Given the description of an element on the screen output the (x, y) to click on. 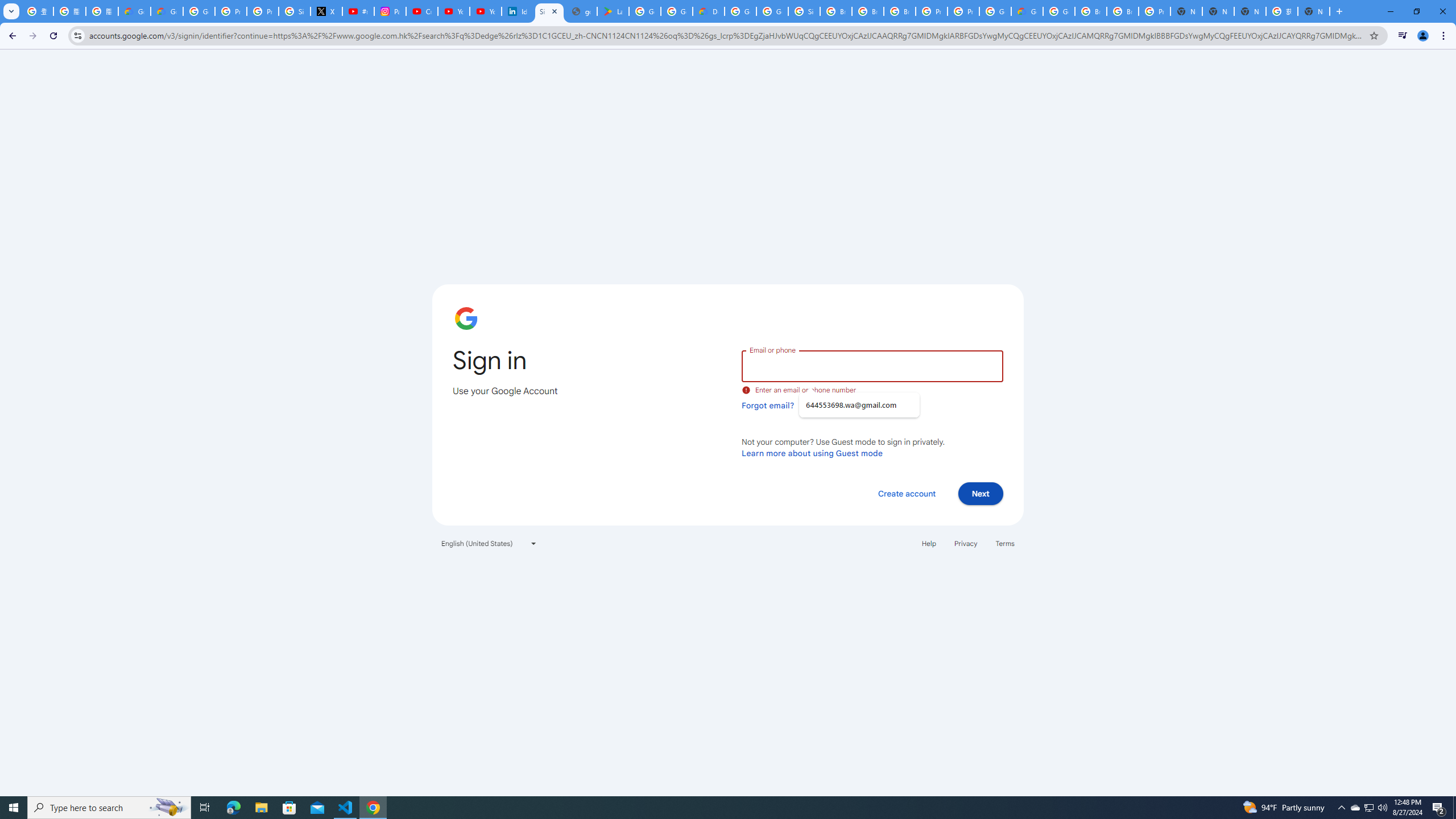
Forgot email? (767, 404)
Google Cloud Privacy Notice (166, 11)
google_privacy_policy_en.pdf (581, 11)
Help (928, 542)
Google Workspace - Specific Terms (676, 11)
YouTube Culture & Trends - YouTube Top 10, 2021 (485, 11)
Learn more about using Guest mode (812, 452)
